Given the description of an element on the screen output the (x, y) to click on. 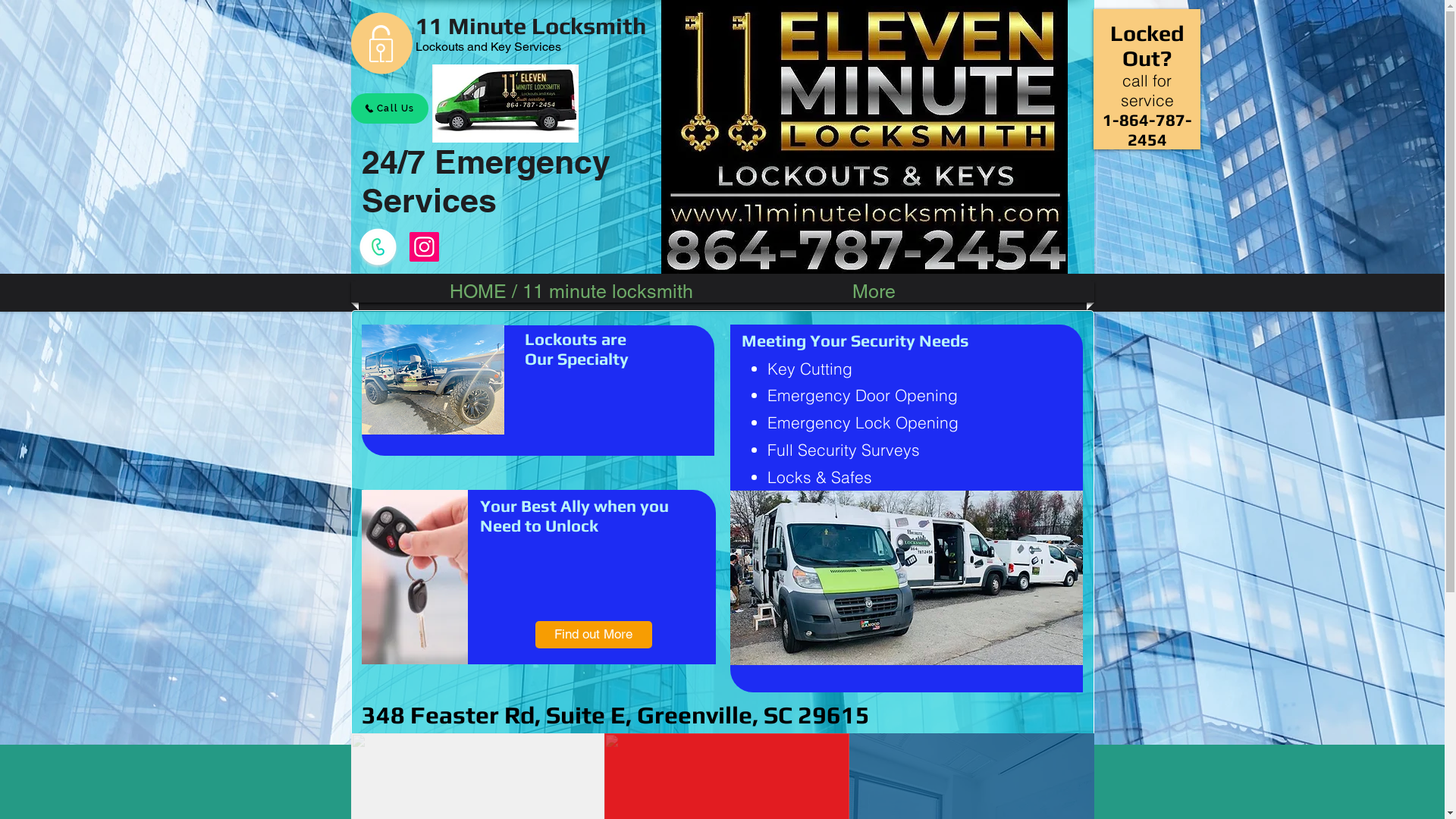
11 Minute Locksmith Element type: text (530, 25)
Find out More Element type: text (593, 634)
Facebook Like Element type: hover (545, 254)
Call Us Element type: text (388, 108)
HOME / 11 minute locksmith Element type: text (570, 291)
